Given the description of an element on the screen output the (x, y) to click on. 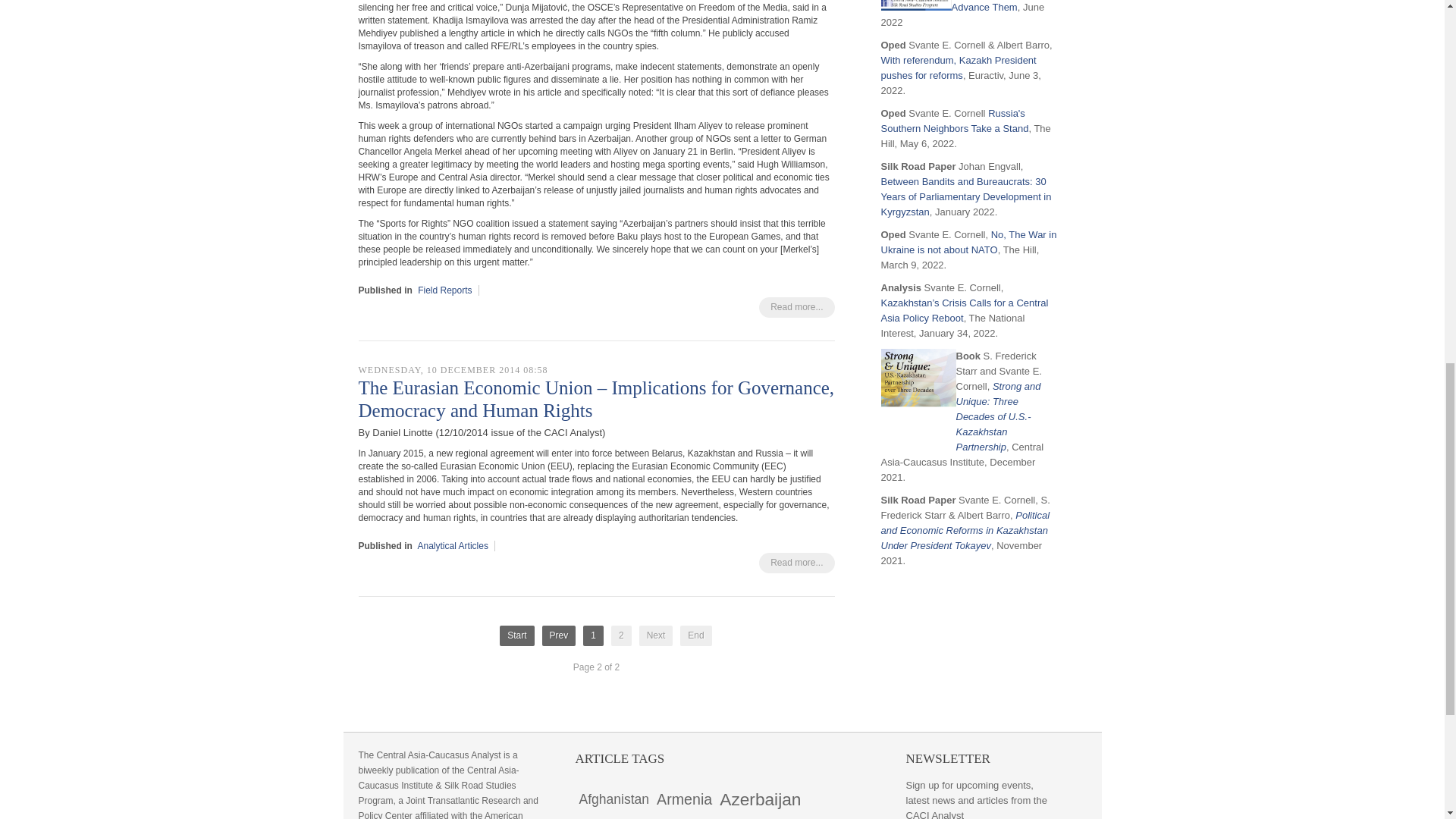
Start (516, 635)
Prev (558, 635)
139 items tagged with Armenia (684, 798)
Read more... (796, 562)
Field Reports (444, 290)
Read more... (796, 307)
175 items tagged with Azerbaijan (760, 798)
114 items tagged with Afghanistan (613, 798)
2 (621, 635)
Next (655, 635)
184 items tagged with Central Asia (626, 816)
71 items tagged with Iran (799, 816)
102 items tagged with China (698, 816)
1 (593, 635)
